Given the description of an element on the screen output the (x, y) to click on. 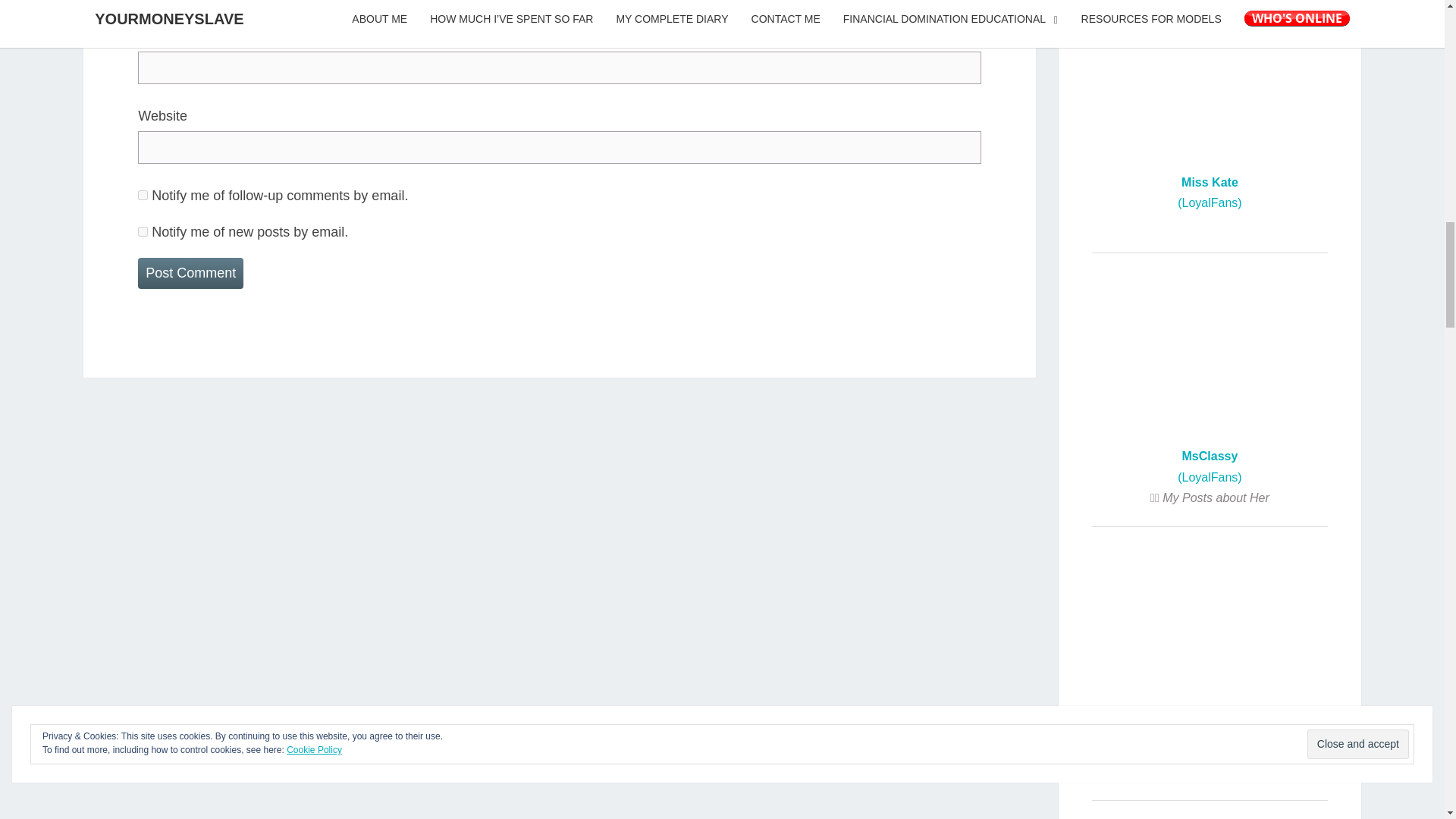
subscribe (143, 194)
subscribe (143, 231)
Post Comment (190, 273)
